Given the description of an element on the screen output the (x, y) to click on. 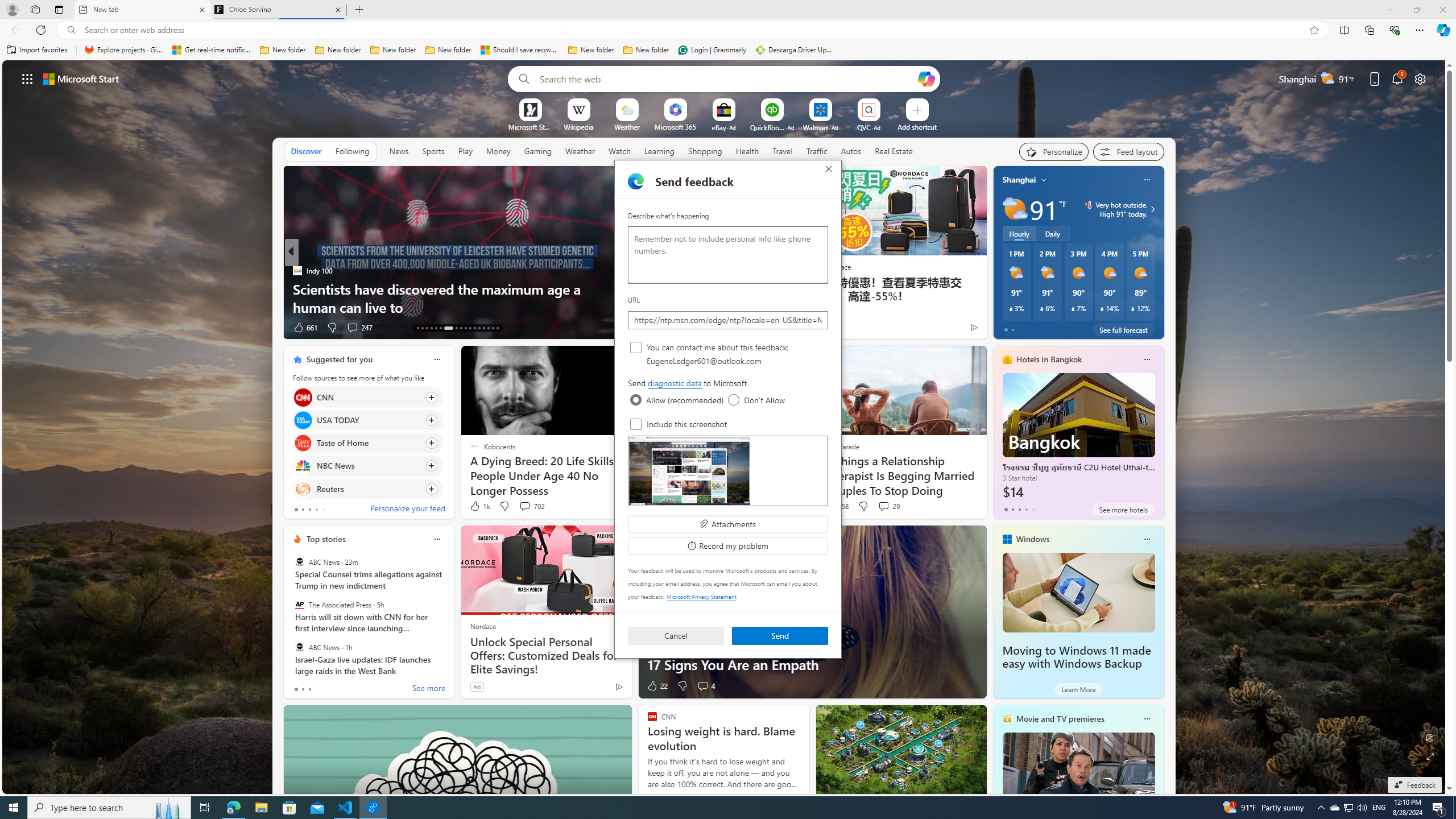
View comments 29 Comment (883, 505)
See full forecast (1123, 329)
Q2790: 100% (1361, 807)
661 Like (304, 327)
ABC News (299, 646)
tab-4 (1032, 509)
Click to follow source Reuters (367, 488)
AutomationID: tab-42 (497, 328)
Suggested for you (338, 359)
Visual Studio Code - 1 running window (345, 807)
Describe what's happening (727, 255)
Cancel (675, 635)
